Given the description of an element on the screen output the (x, y) to click on. 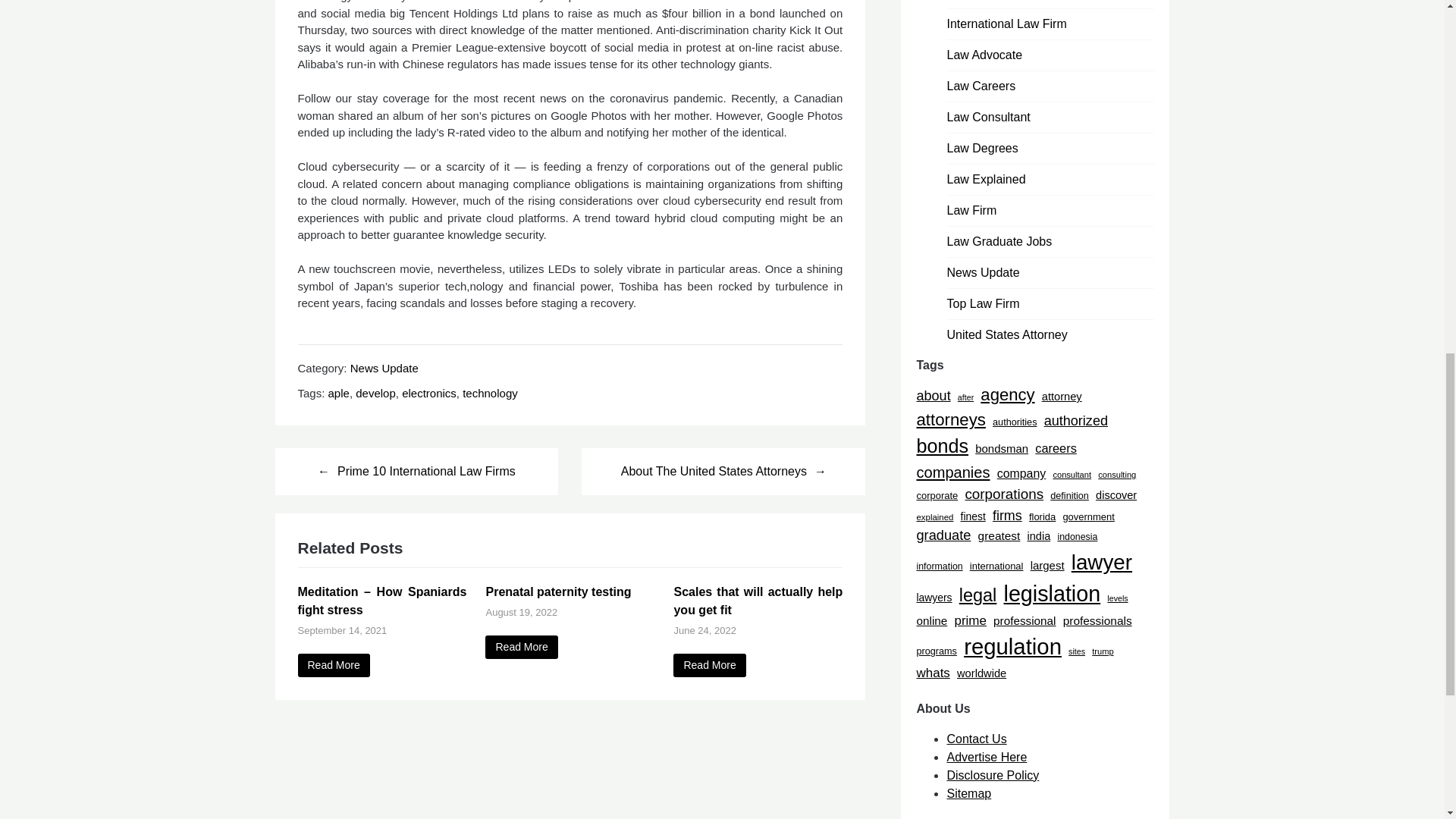
Prime 10 International Law Firms (416, 470)
aple (339, 392)
electronics (429, 392)
technology (490, 392)
develop (375, 392)
Prenatal paternity testing (520, 647)
Scales that will actually help you get fit (708, 665)
News Update (384, 367)
